Given the description of an element on the screen output the (x, y) to click on. 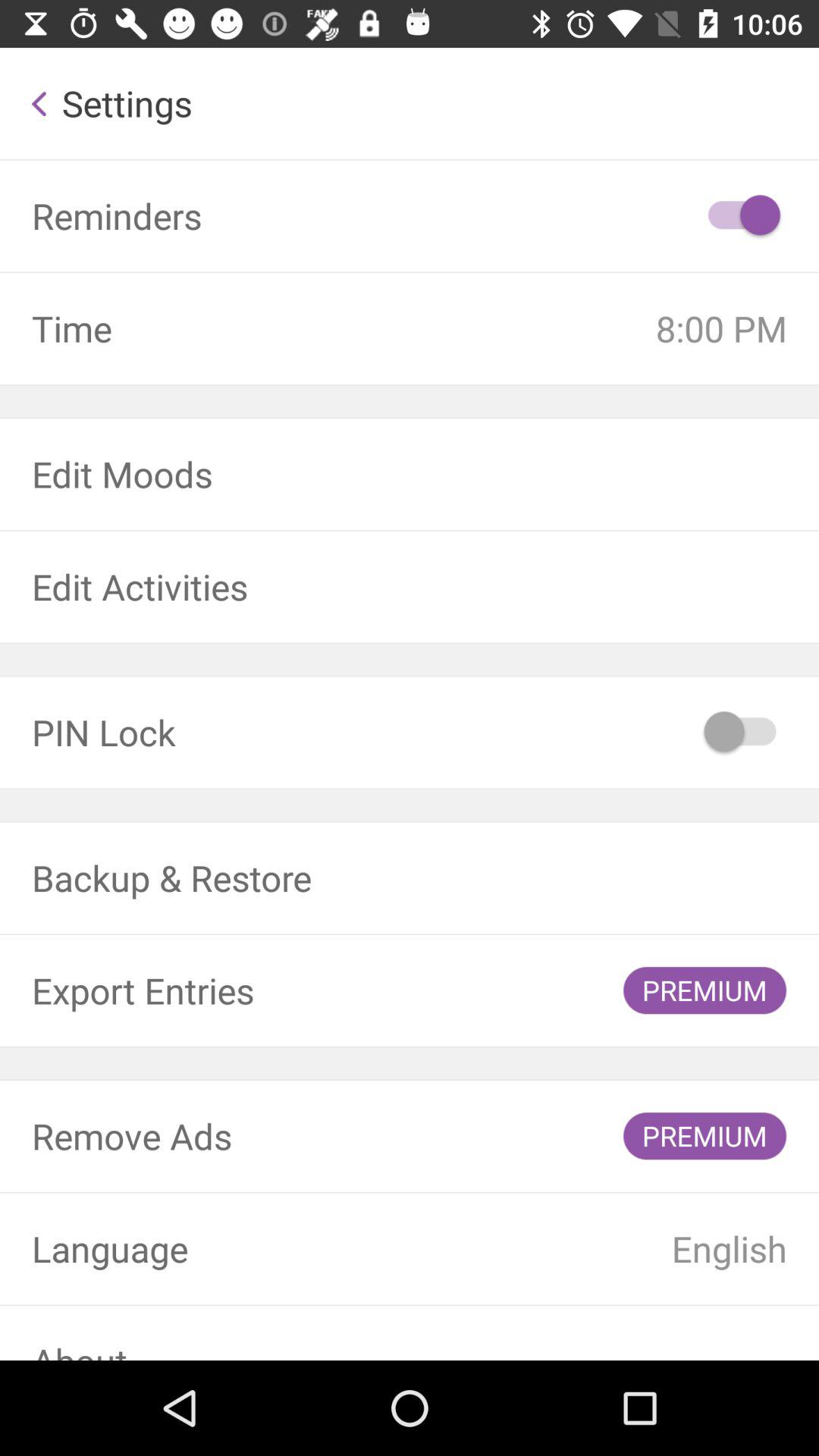
click the app to the right of pin lock app (742, 732)
